Given the description of an element on the screen output the (x, y) to click on. 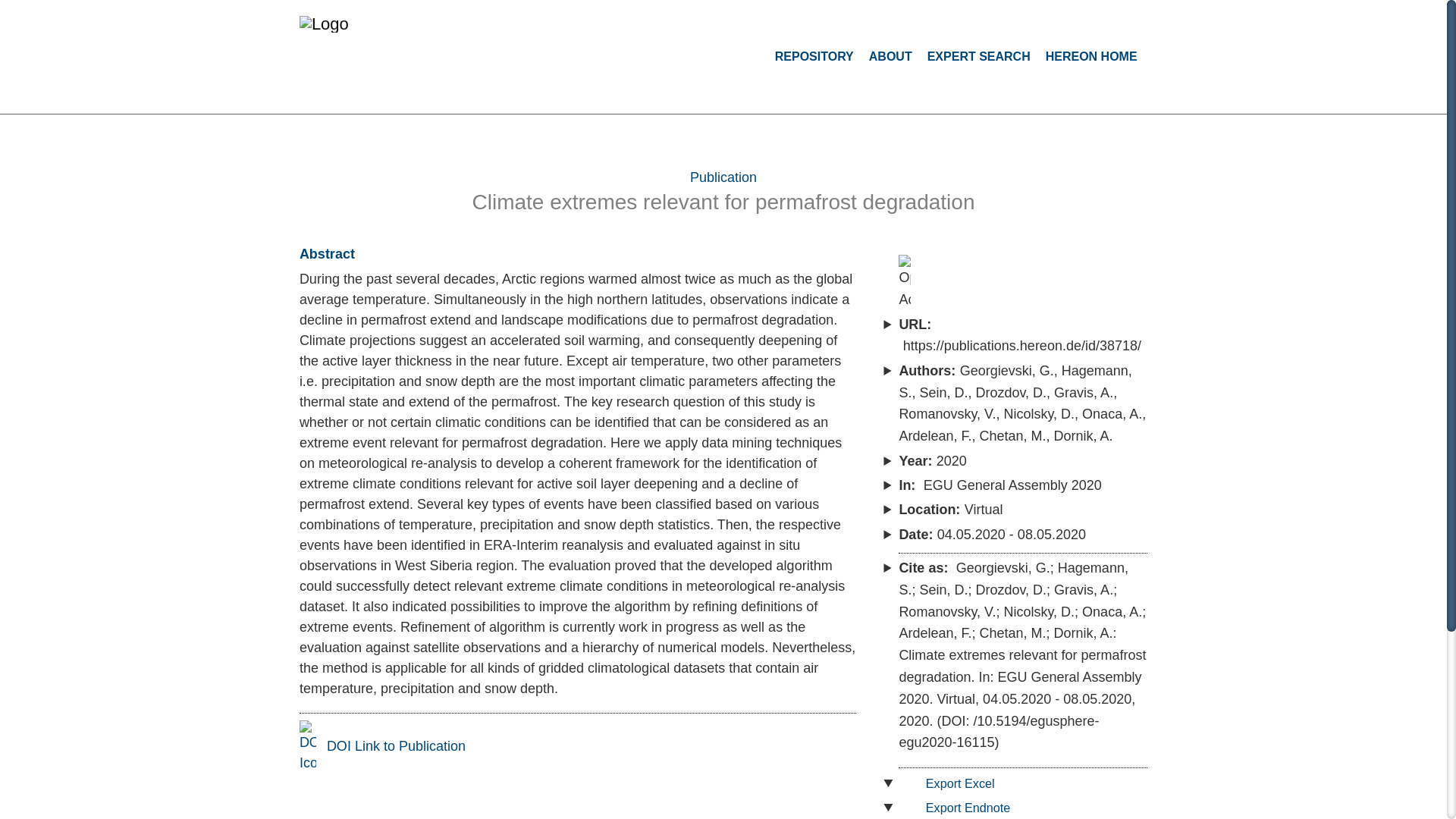
Publications Homepage (399, 23)
DOI Link to Publication (382, 746)
HEREON HOME (1091, 56)
Export to Endnote (958, 807)
Export to Excel (950, 783)
Publications Homepage (409, 31)
Export Excel (950, 783)
Export Endnote (958, 807)
REPOSITORY (813, 56)
ABOUT (890, 56)
